Given the description of an element on the screen output the (x, y) to click on. 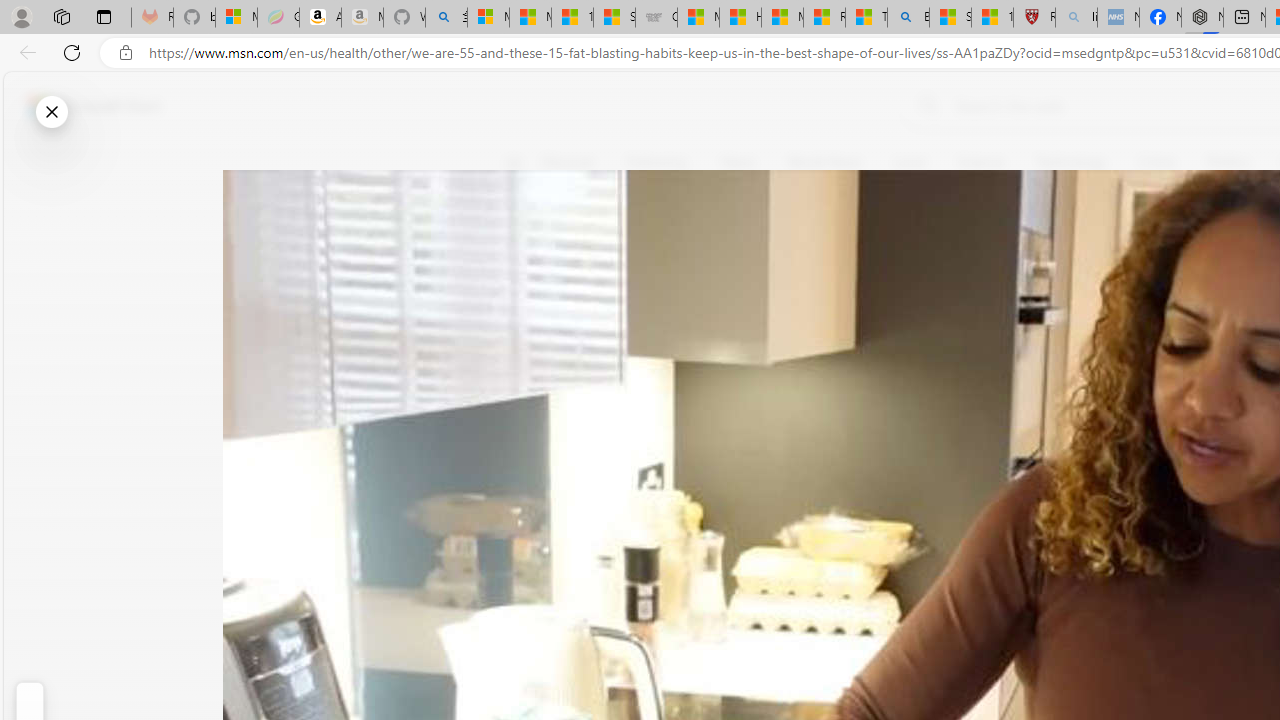
News (738, 162)
Crime (1156, 162)
Science (980, 162)
Combat Siege (656, 17)
Open navigation menu (513, 162)
Dislike (525, 300)
News (738, 162)
6 (525, 300)
See more (525, 468)
Local (909, 162)
Local (910, 162)
World News (824, 162)
